Given the description of an element on the screen output the (x, y) to click on. 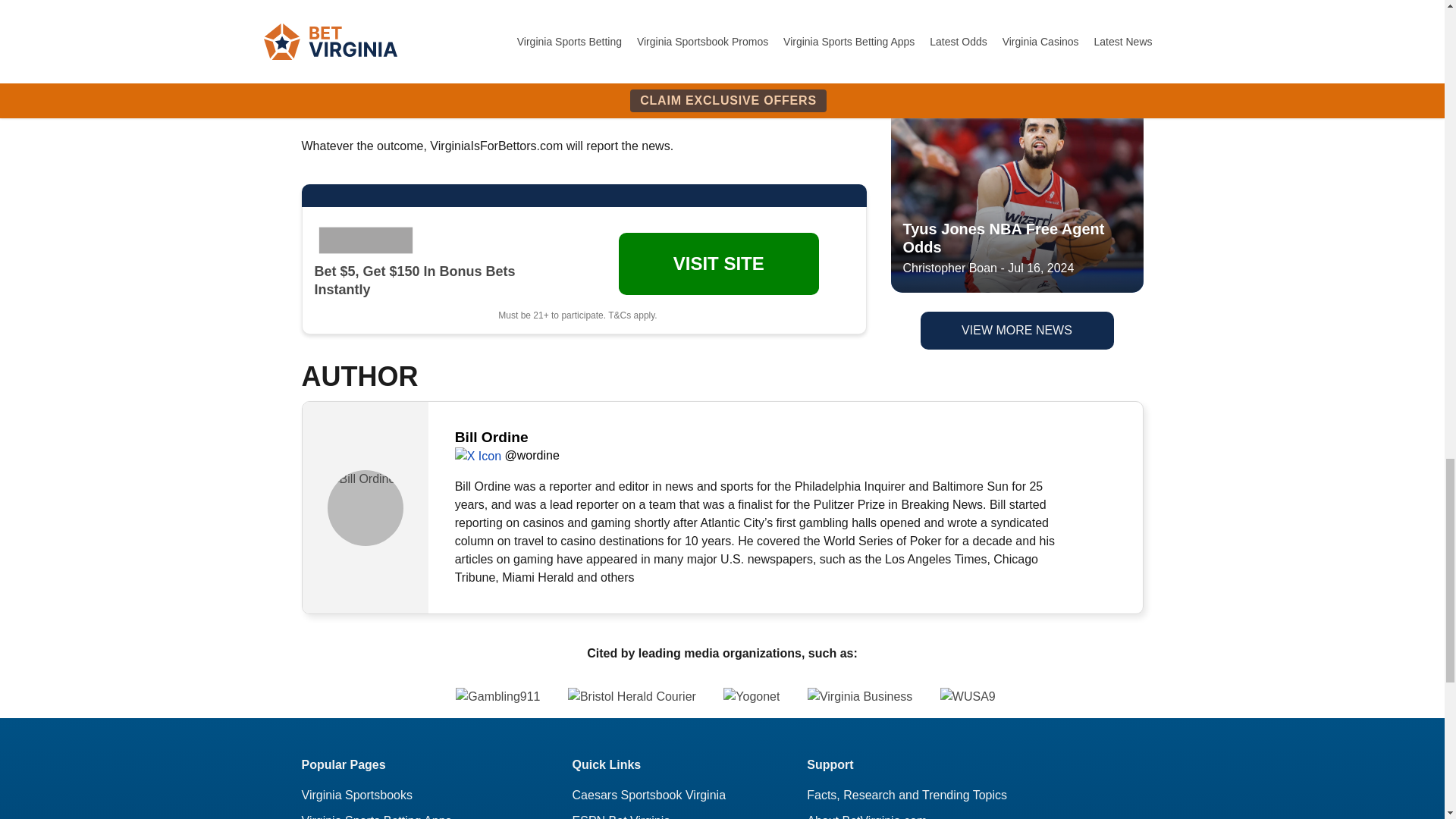
DraftKings Sports (368, 240)
Bill Ordine (365, 508)
